Given the description of an element on the screen output the (x, y) to click on. 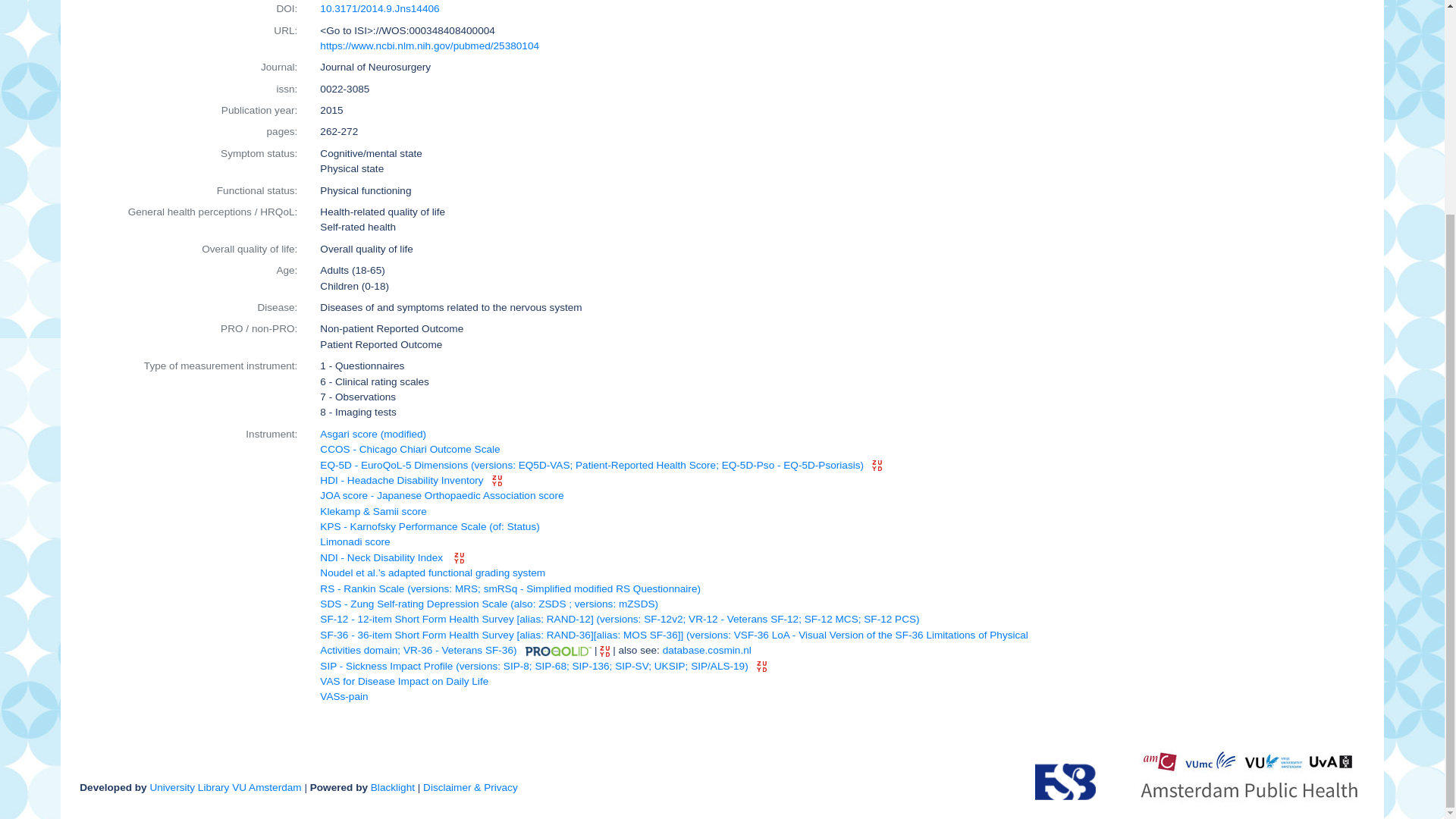
VASs-pain (344, 696)
University Library VU Amsterdam (225, 787)
NDI - Neck Disability Index (382, 557)
Blacklight (392, 787)
CCOS - Chicago Chiari Outcome Scale (409, 449)
HDI - Headache Disability Inventory (401, 480)
Limonadi score (355, 541)
database.cosmin.nl (706, 650)
JOA score - Japanese Orthopaedic Association score (441, 495)
VAS for Disease Impact on Daily Life (403, 681)
